Given the description of an element on the screen output the (x, y) to click on. 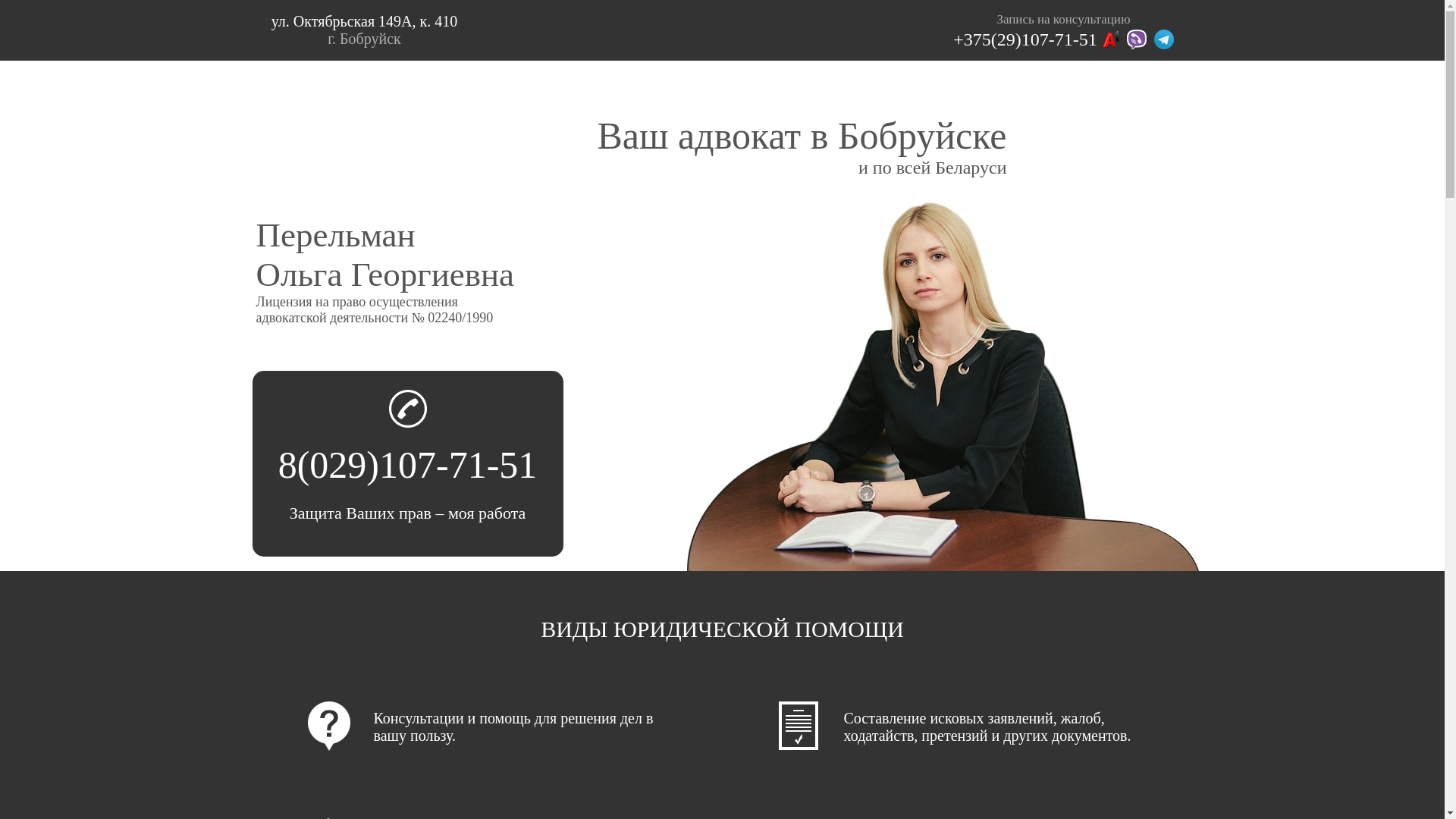
+375(29)107-71-51 Element type: text (1025, 38)
A1 Element type: hover (1110, 38)
Telegram Element type: hover (1163, 38)
Viber Element type: hover (1136, 38)
8(029)107-71-51 Element type: text (407, 464)
